Given the description of an element on the screen output the (x, y) to click on. 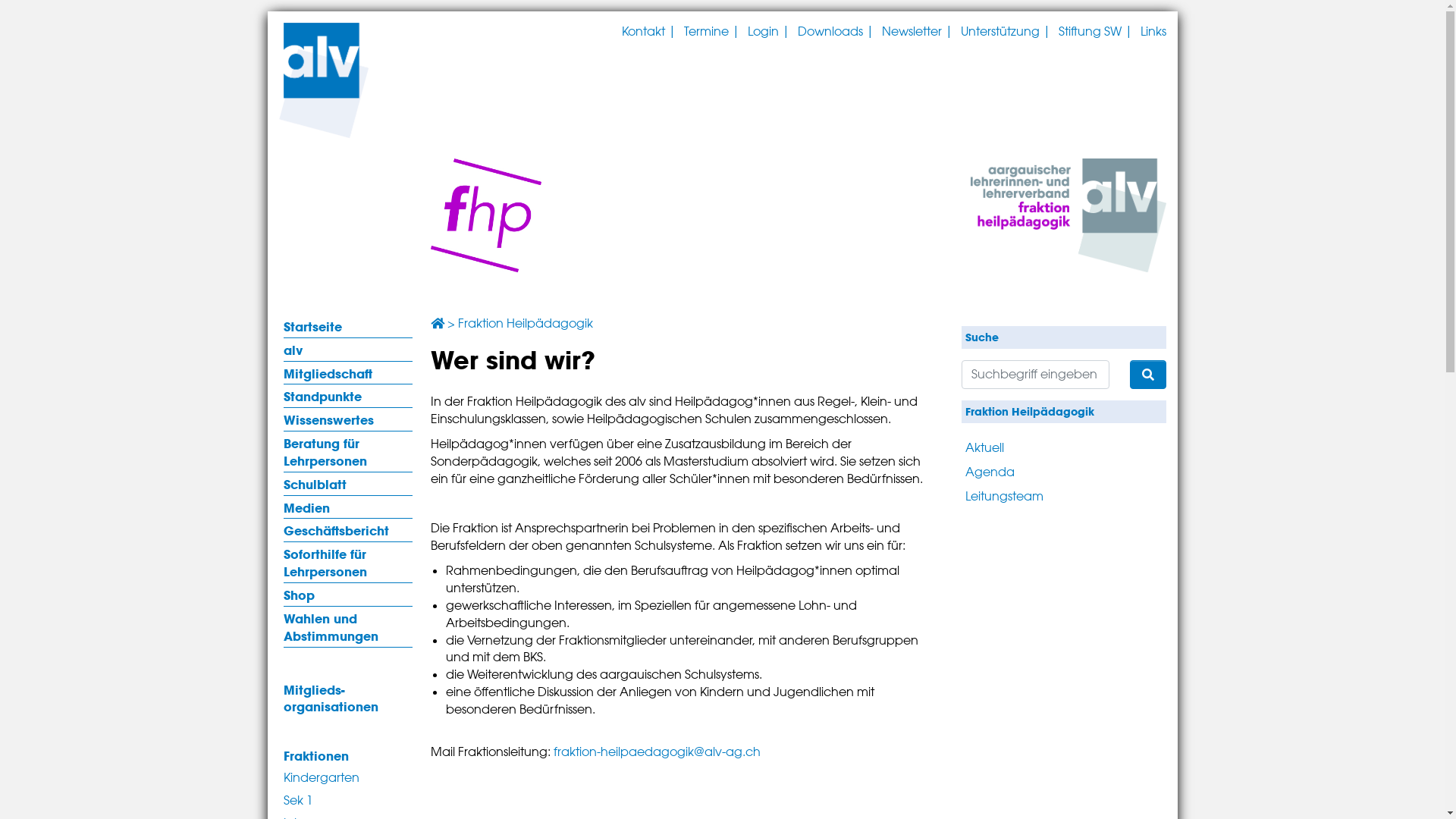
Mitglieds-organisationen Element type: text (347, 697)
Stiftung SW Element type: text (1089, 31)
Leitungsteam Element type: text (1024, 494)
Links Element type: text (1153, 31)
Mitgliedschaft Element type: text (347, 372)
Wahlen und Abstimmungen Element type: text (347, 626)
Shop Element type: text (347, 594)
Kontakt Element type: text (643, 31)
Aktuell Element type: text (1024, 446)
Downloads Element type: text (829, 31)
Kindergarten Element type: text (347, 776)
alv Element type: text (347, 349)
Standpunkte Element type: text (347, 395)
Agenda Element type: text (1024, 470)
Newsletter Element type: text (911, 31)
Medien Element type: text (347, 506)
Login Element type: text (762, 31)
fraktion-heilpaedagogik@alv-ag.ch Element type: text (656, 751)
Schulblatt Element type: text (347, 483)
Startseite Element type: text (347, 325)
Wissenswertes Element type: text (347, 418)
Termine Element type: text (706, 31)
Sek 1 Element type: text (347, 798)
